Given the description of an element on the screen output the (x, y) to click on. 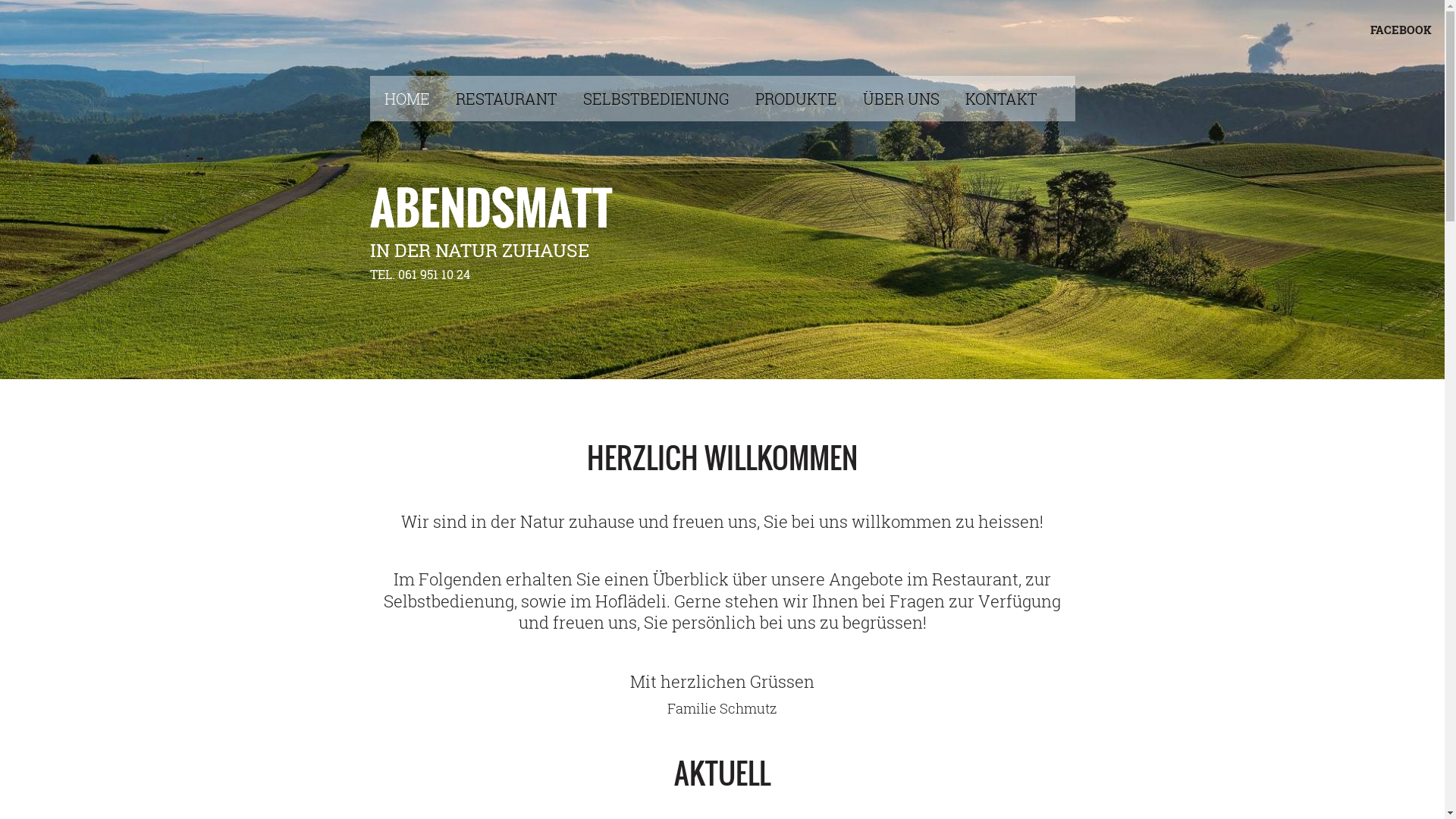
PRODUKTE Element type: text (807, 97)
SELBSTBEDIENUNG Element type: text (667, 97)
FACEBOOK Element type: text (1401, 29)
HOME Element type: text (418, 97)
KONTAKT Element type: text (1012, 97)
RESTAURANT Element type: text (517, 97)
